Given the description of an element on the screen output the (x, y) to click on. 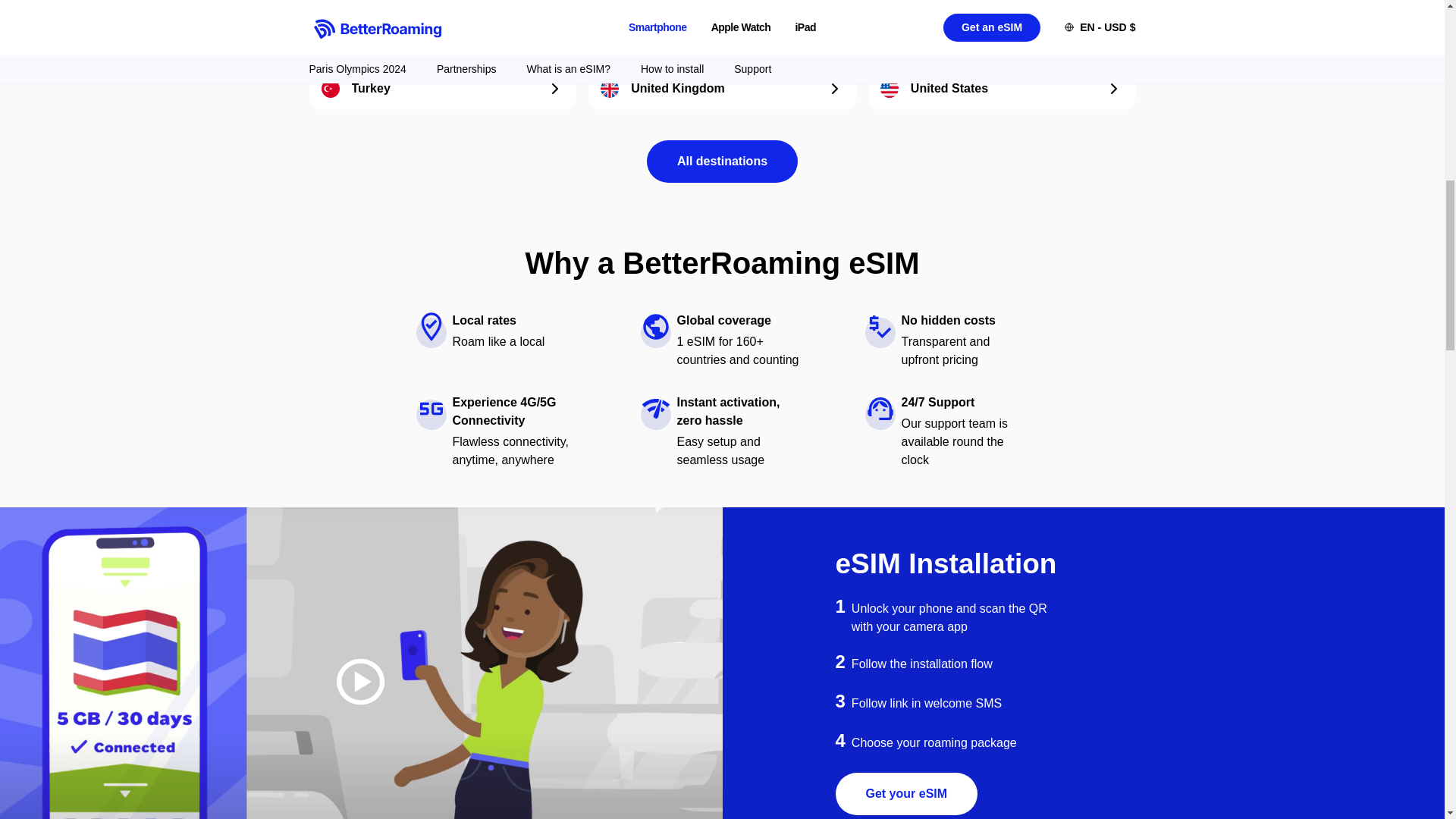
Switzerland (722, 34)
Germany (442, 34)
Thailand (1001, 34)
